Given the description of an element on the screen output the (x, y) to click on. 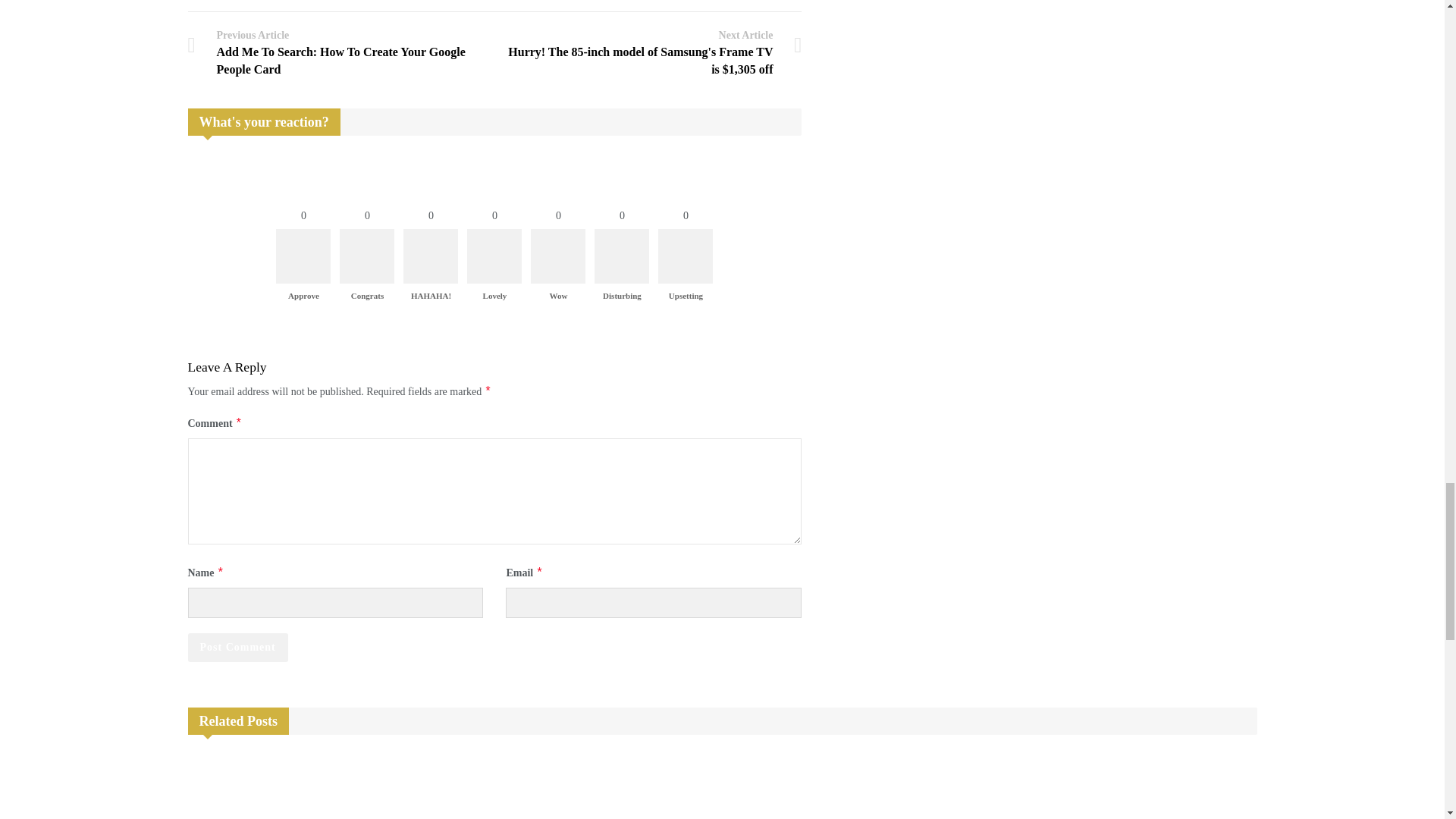
Post Comment (237, 647)
